Given the description of an element on the screen output the (x, y) to click on. 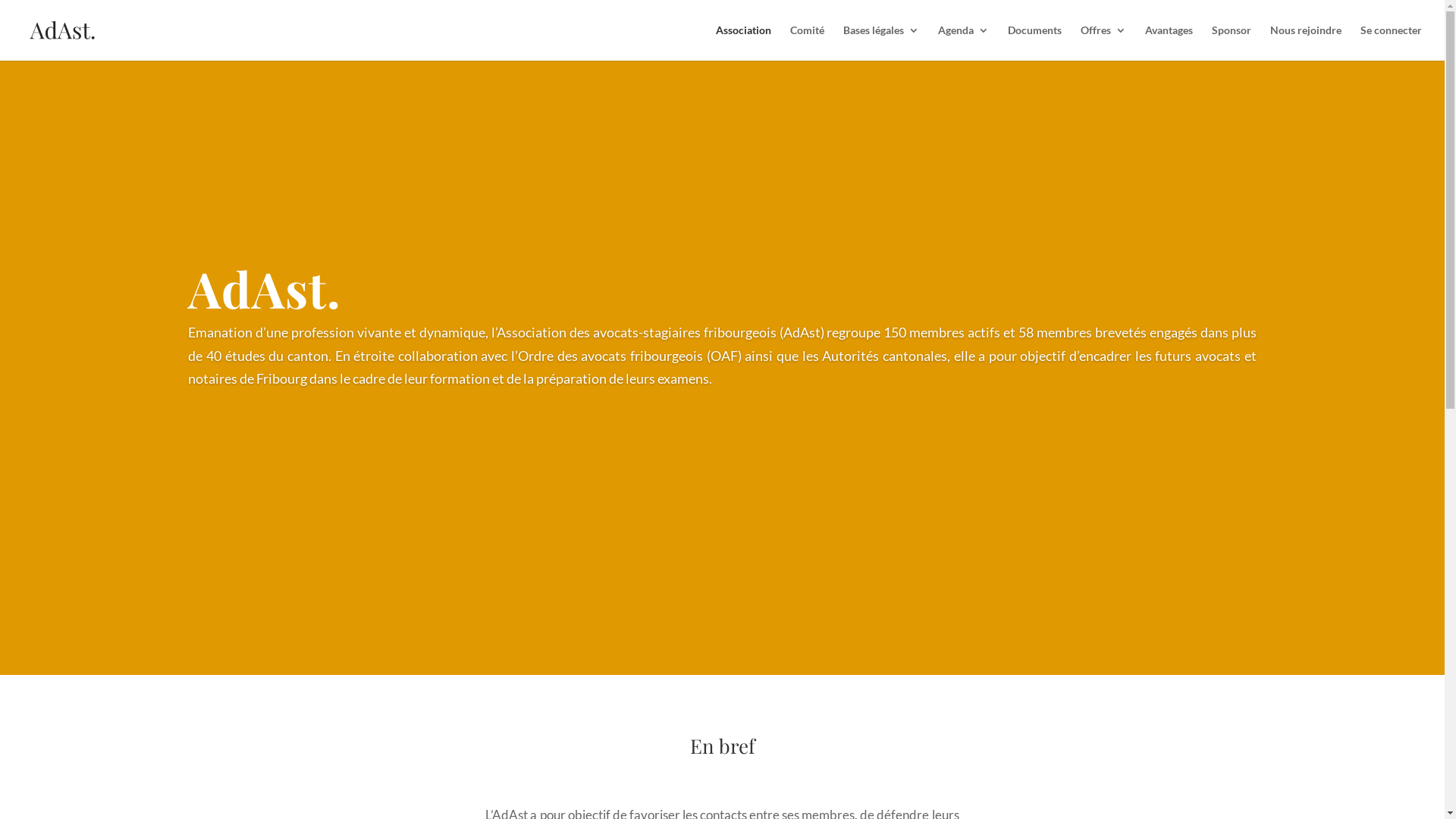
Sponsor Element type: text (1231, 42)
Se connecter Element type: text (1390, 42)
Agenda Element type: text (963, 42)
Nous rejoindre Element type: text (1305, 42)
Documents Element type: text (1034, 42)
Offres Element type: text (1103, 42)
Avantages Element type: text (1168, 42)
Association Element type: text (743, 42)
